Given the description of an element on the screen output the (x, y) to click on. 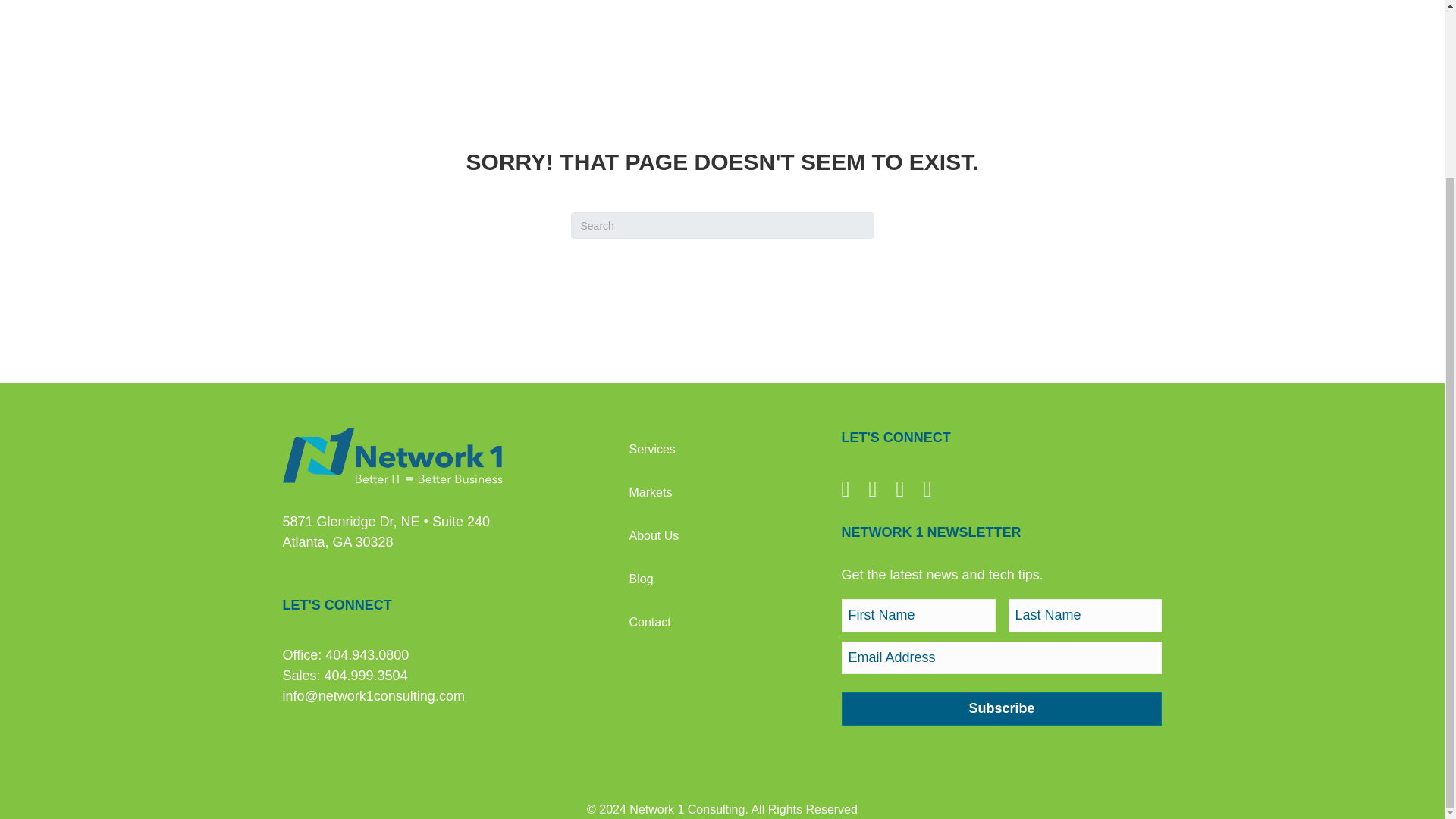
Type and press Enter to search. (721, 225)
Network1 color with white taglineFINAL (392, 458)
Subscribe (1001, 708)
